Given the description of an element on the screen output the (x, y) to click on. 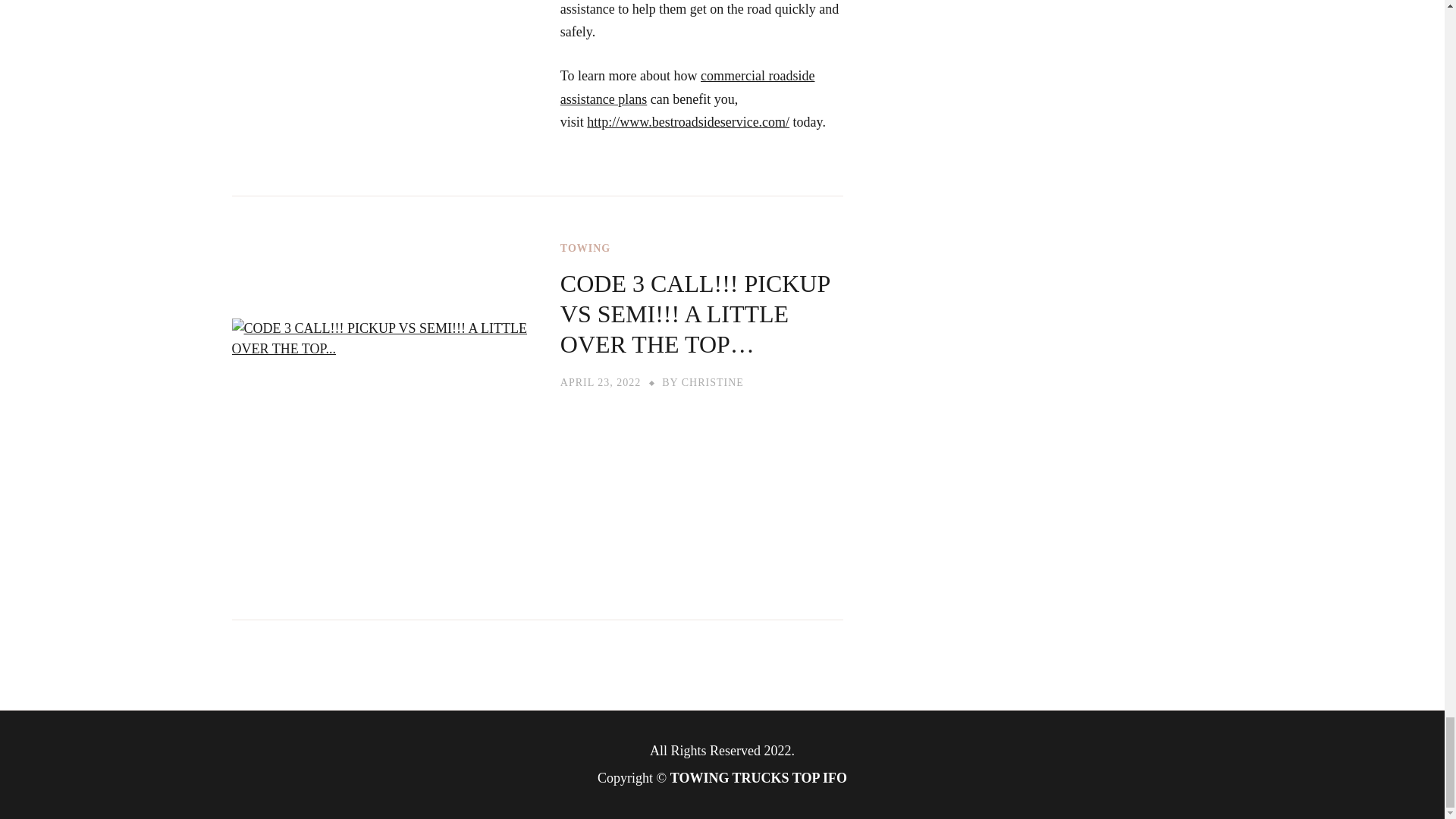
CODE 3 CALL!!!  PICKUP VS SEMI!!!   A LITTLE OVER THE TOP... (701, 485)
